Given the description of an element on the screen output the (x, y) to click on. 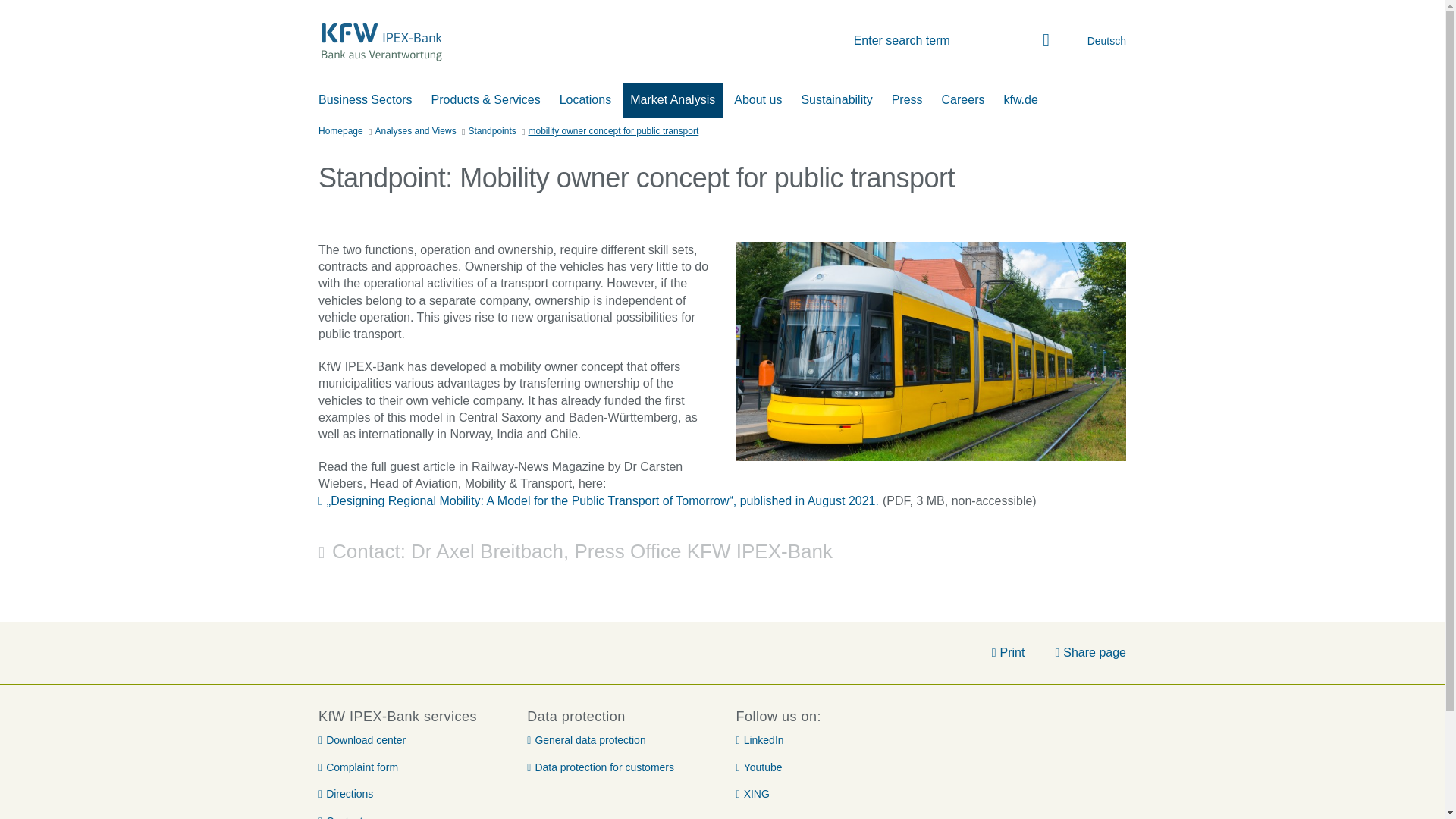
Careers (963, 99)
Complaint form (357, 767)
Press (907, 99)
Deutsch (1106, 41)
mobility owner concept for public transport (612, 131)
Contact: Dr Axel Breitbach, Press Office KFW IPEX-Bank (721, 551)
Standpoints (491, 131)
Sustainability (836, 99)
Contact (340, 816)
Data protection for customers (600, 767)
